Given the description of an element on the screen output the (x, y) to click on. 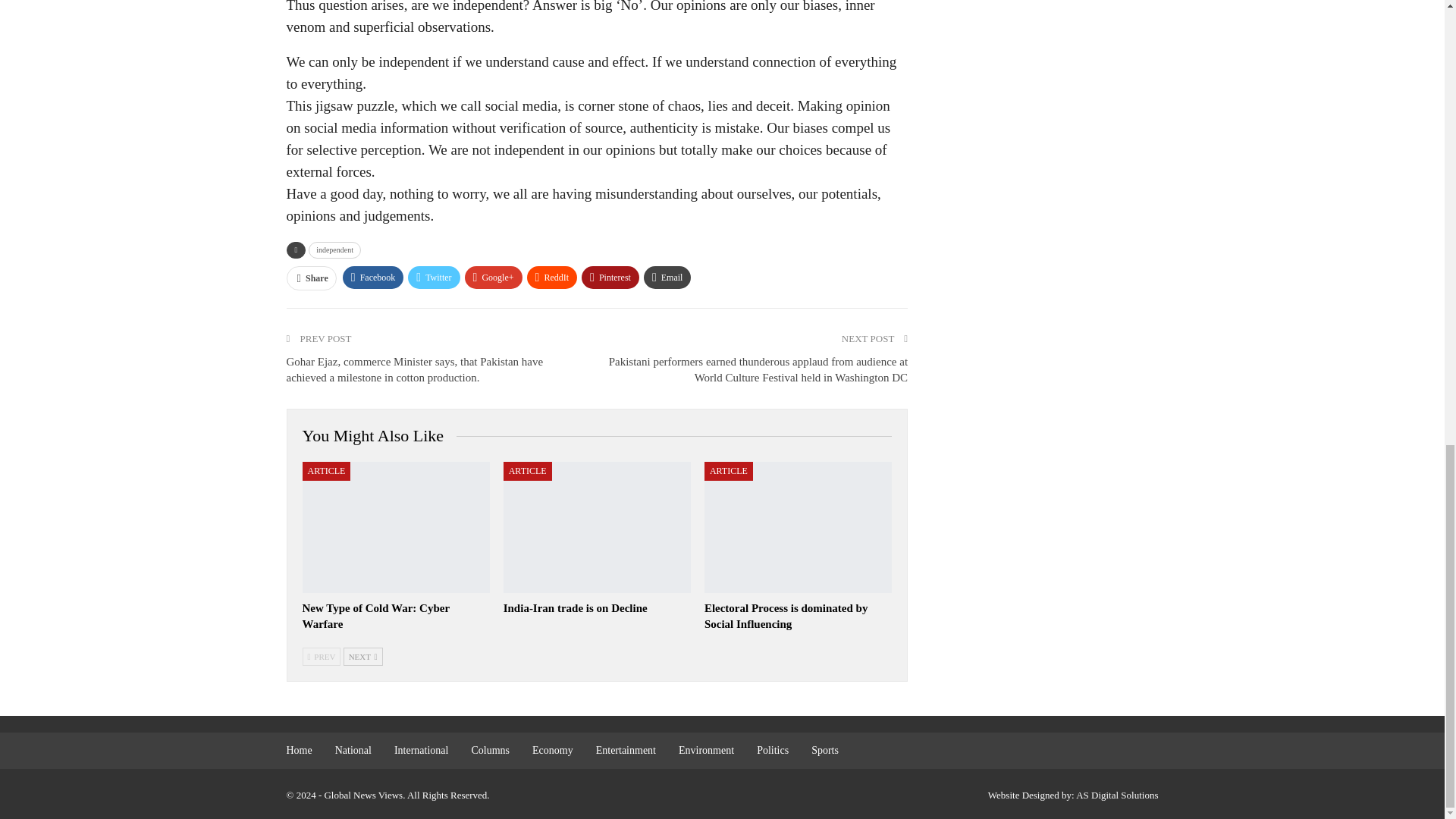
Electoral Process is dominated by Social Influencing (785, 615)
New Type of Cold War: Cyber Warfare (395, 526)
Electoral Process is dominated by Social Influencing (797, 526)
Next (362, 656)
New Type of Cold War: Cyber Warfare (374, 615)
Previous (320, 656)
